Given the description of an element on the screen output the (x, y) to click on. 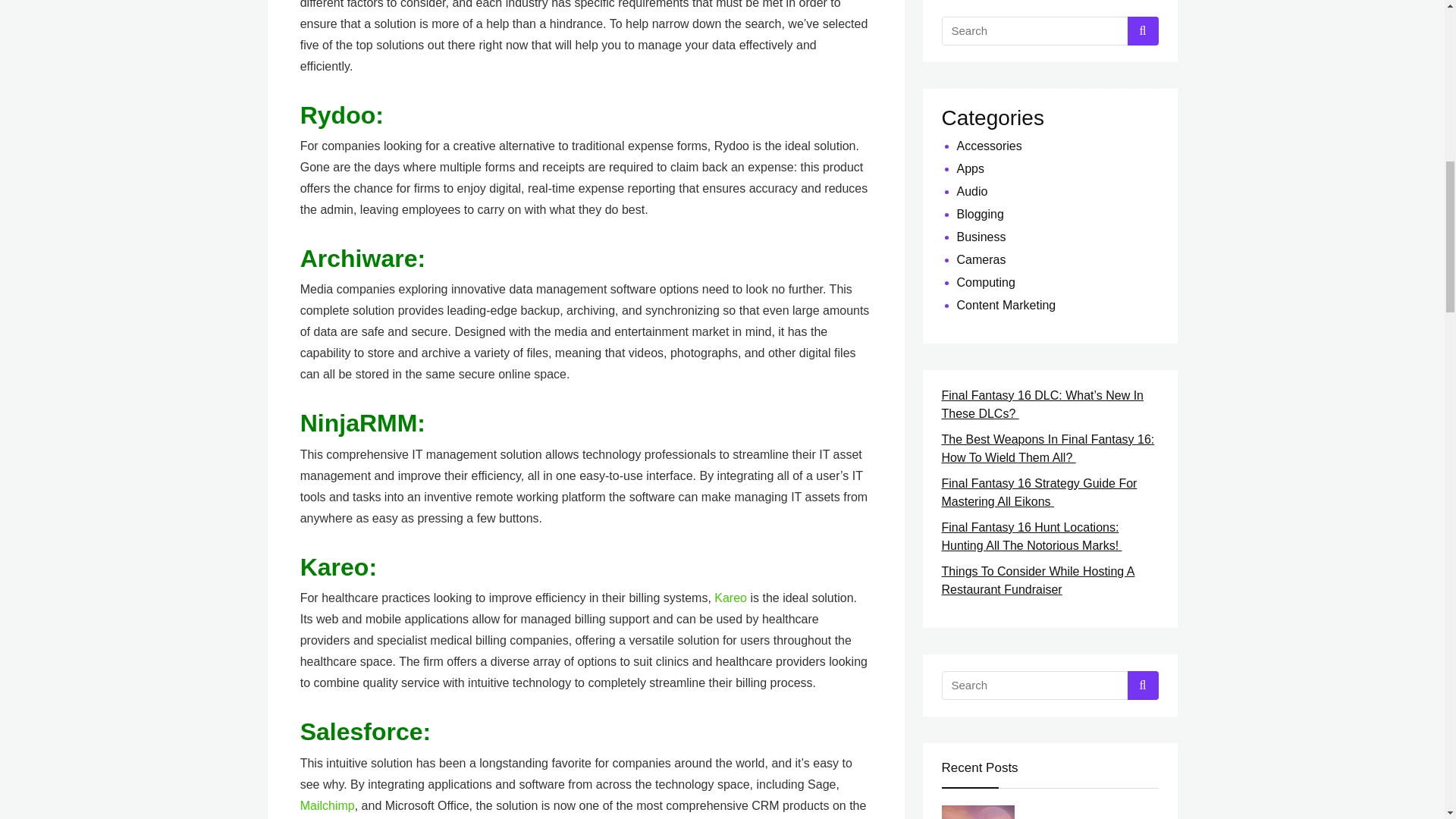
Kareo (730, 597)
Archiware (358, 257)
Mailchimp (327, 805)
